Given the description of an element on the screen output the (x, y) to click on. 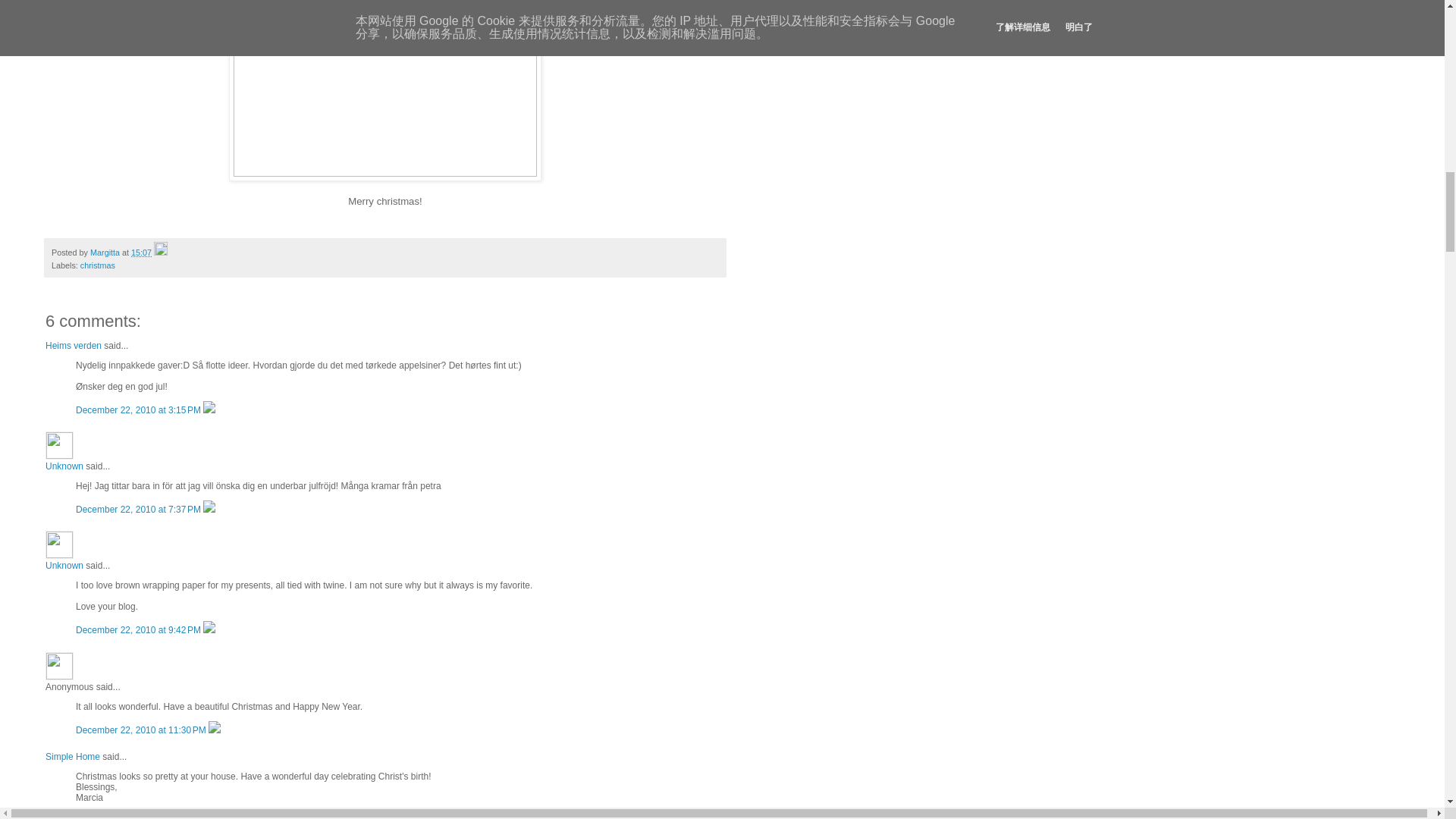
christmas (97, 265)
Anonymous (59, 665)
comment permalink (141, 729)
Unknown (63, 466)
author profile (106, 252)
comment permalink (139, 629)
Delete Comment (209, 509)
Unknown (59, 544)
comment permalink (139, 509)
Heims verden (73, 345)
Margitta (106, 252)
Edit Post (160, 252)
